Given the description of an element on the screen output the (x, y) to click on. 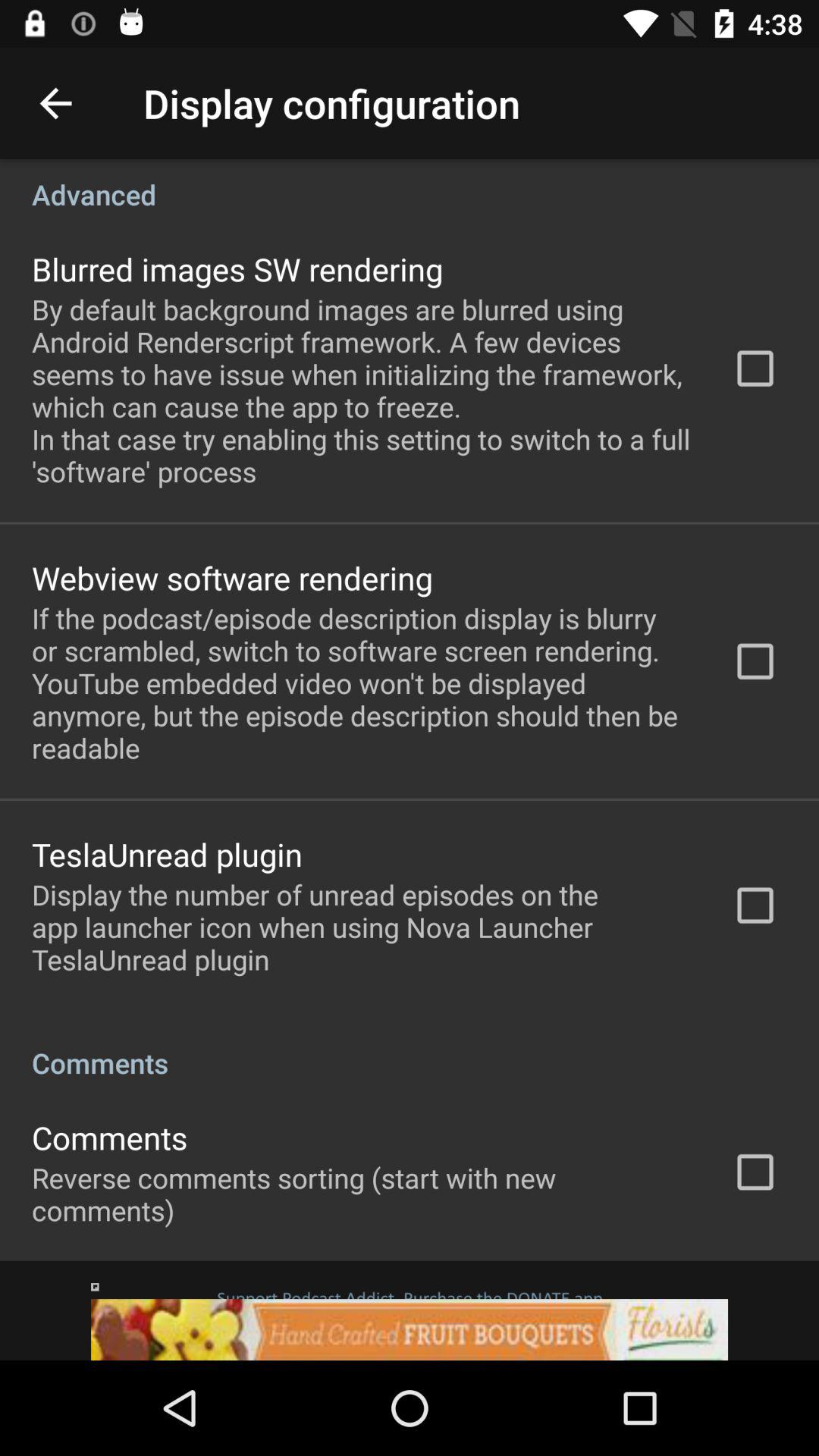
new advertisement open (409, 1310)
